Given the description of an element on the screen output the (x, y) to click on. 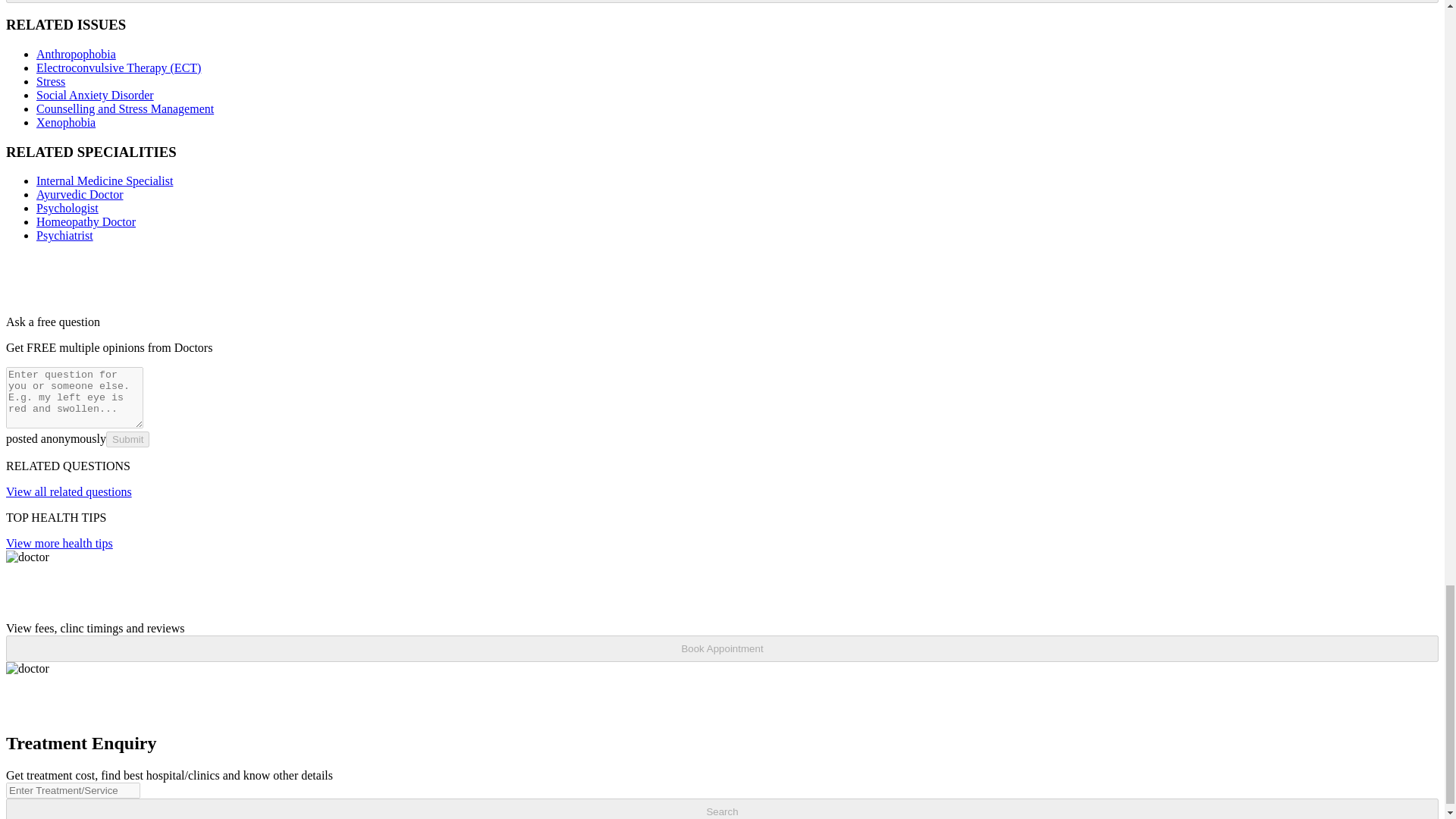
Anthropophobia (76, 53)
Submit (127, 439)
View more health tips (59, 543)
Xenophobia (66, 122)
Social Anxiety Disorder (95, 94)
Internal Medicine Specialist (104, 180)
Psychiatrist (64, 235)
Homeopathy Doctor (85, 221)
View all related questions (68, 491)
Counselling and Stress Management (125, 108)
